Given the description of an element on the screen output the (x, y) to click on. 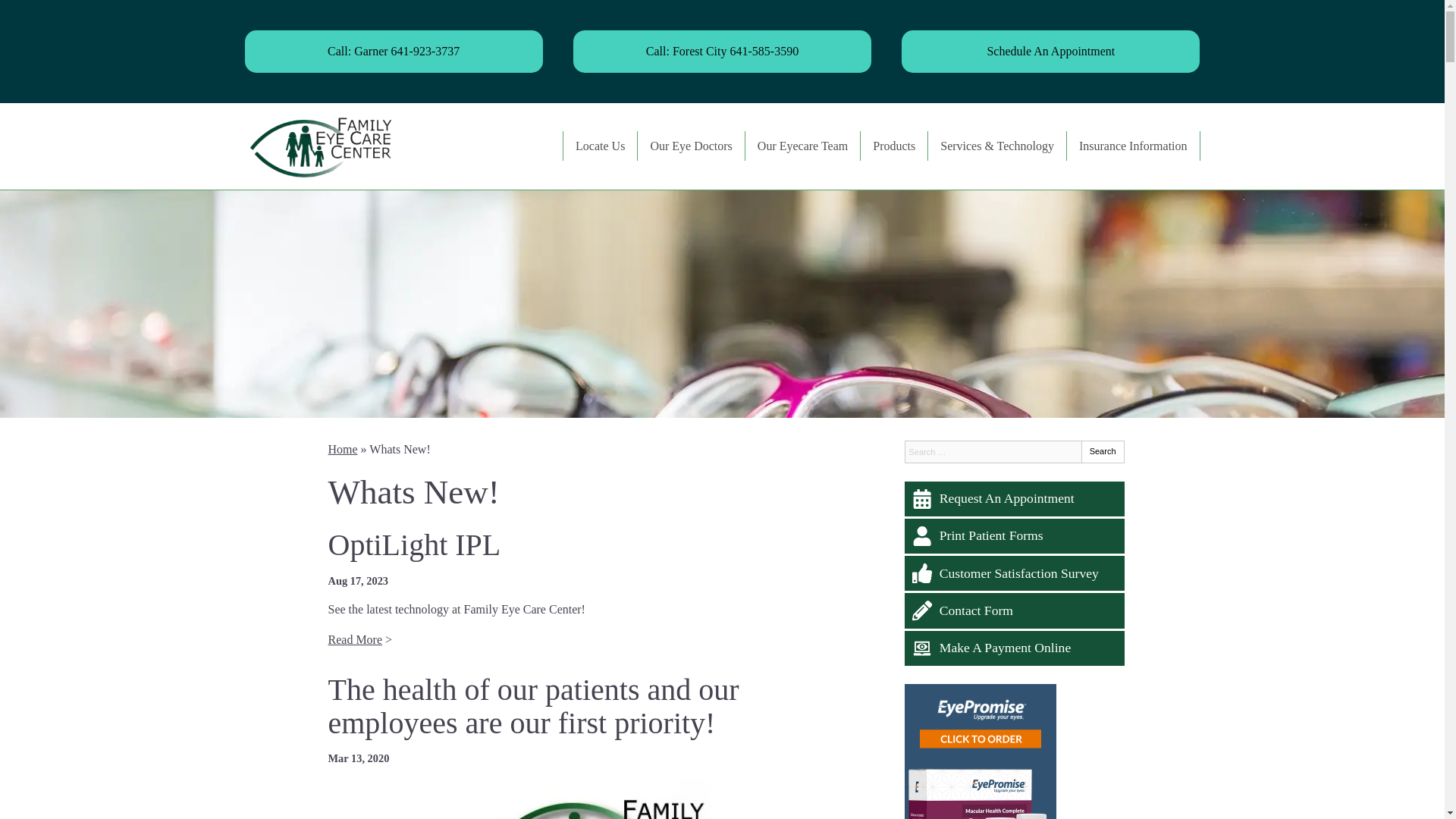
Insurance Information (1133, 145)
Call: Garner 641-923-3737 (392, 51)
Home (341, 449)
Call: Forest City 641-585-3590 (721, 51)
Products (893, 145)
Locate Us (600, 145)
Our Eye Doctors (690, 145)
Our Eyecare Team (802, 145)
OptiLight IPL (413, 544)
